Given the description of an element on the screen output the (x, y) to click on. 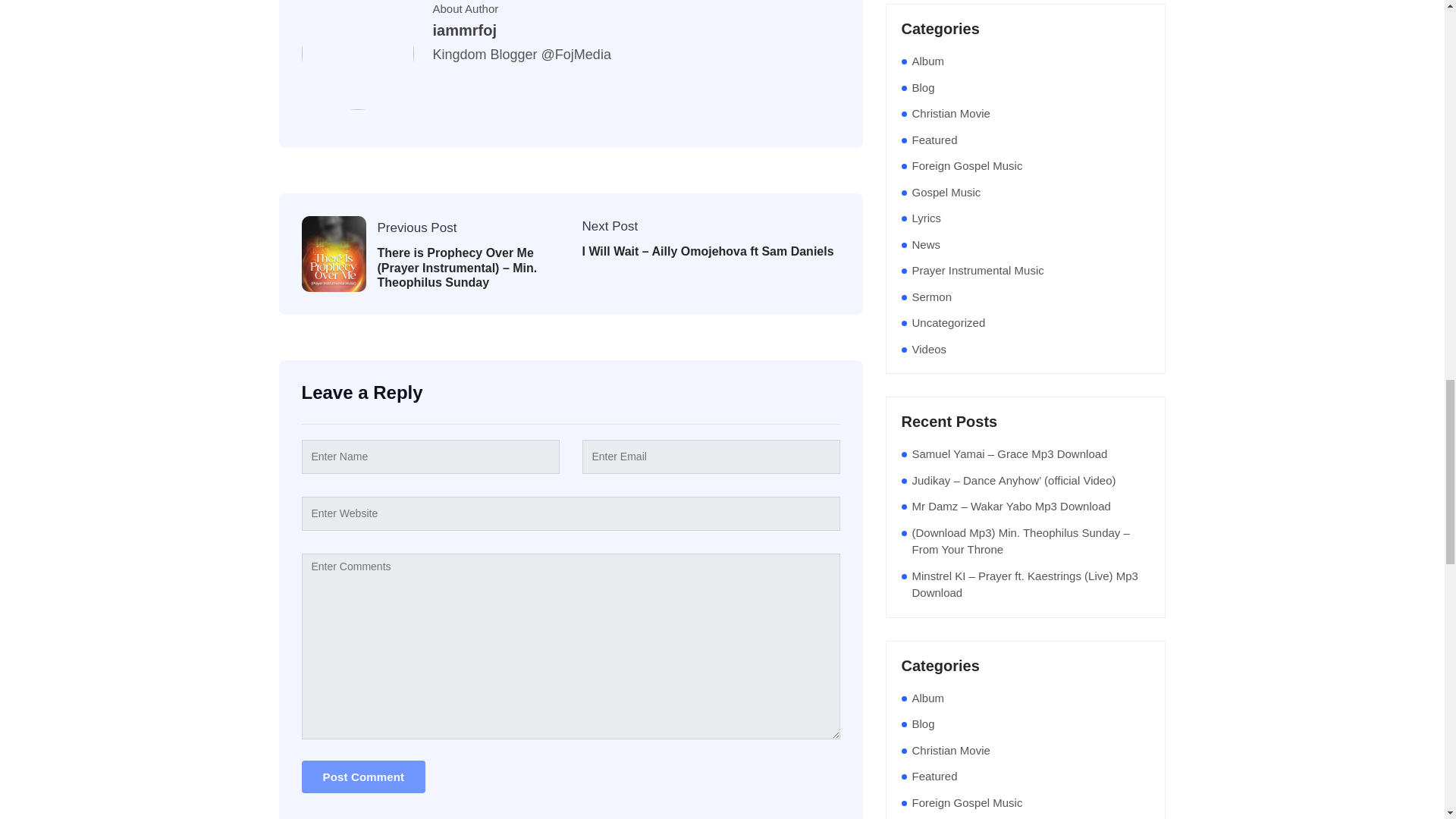
Post Comment (363, 776)
